Given the description of an element on the screen output the (x, y) to click on. 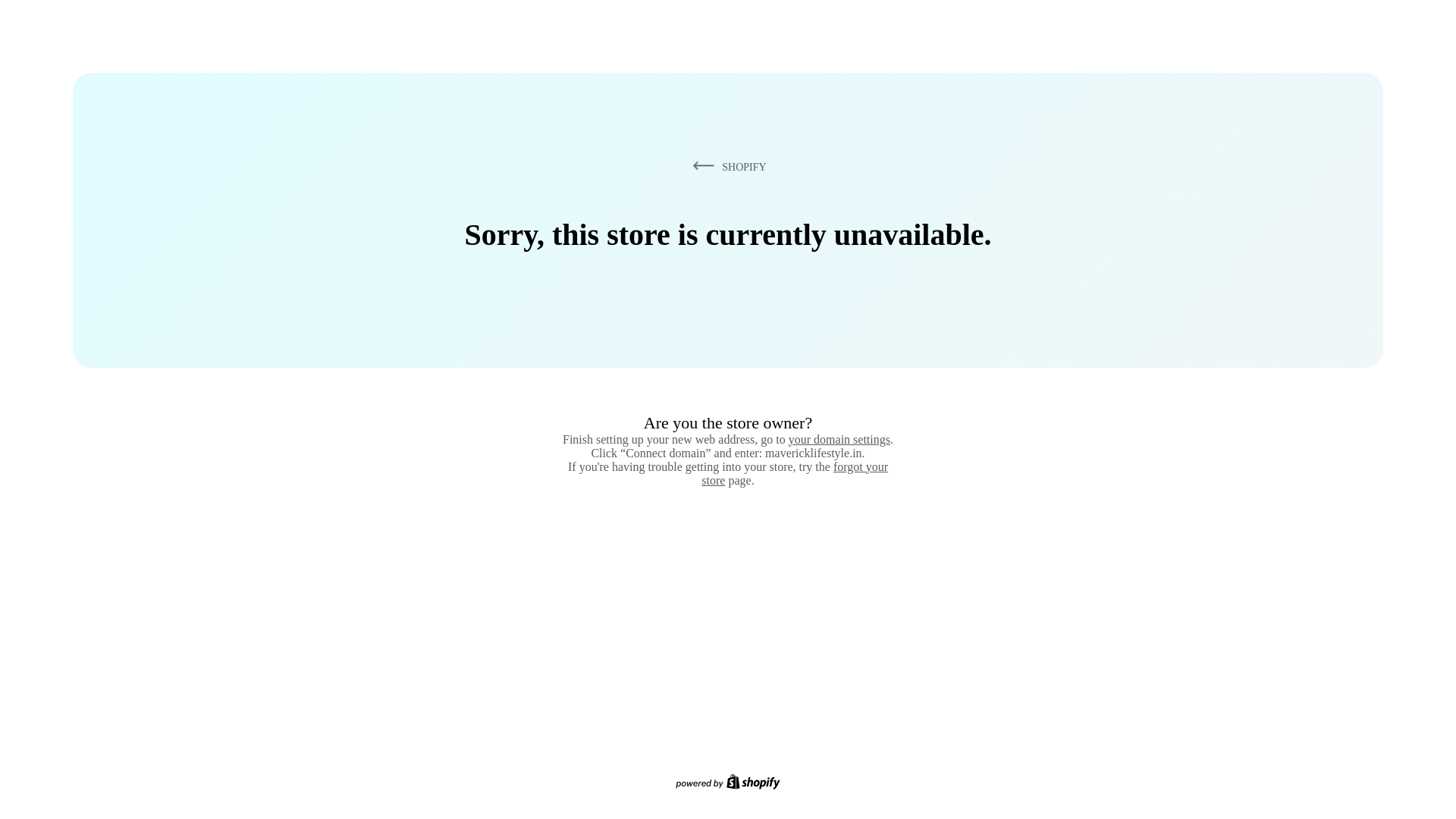
your domain settings (839, 439)
forgot your store (794, 473)
SHOPIFY (726, 166)
